Given the description of an element on the screen output the (x, y) to click on. 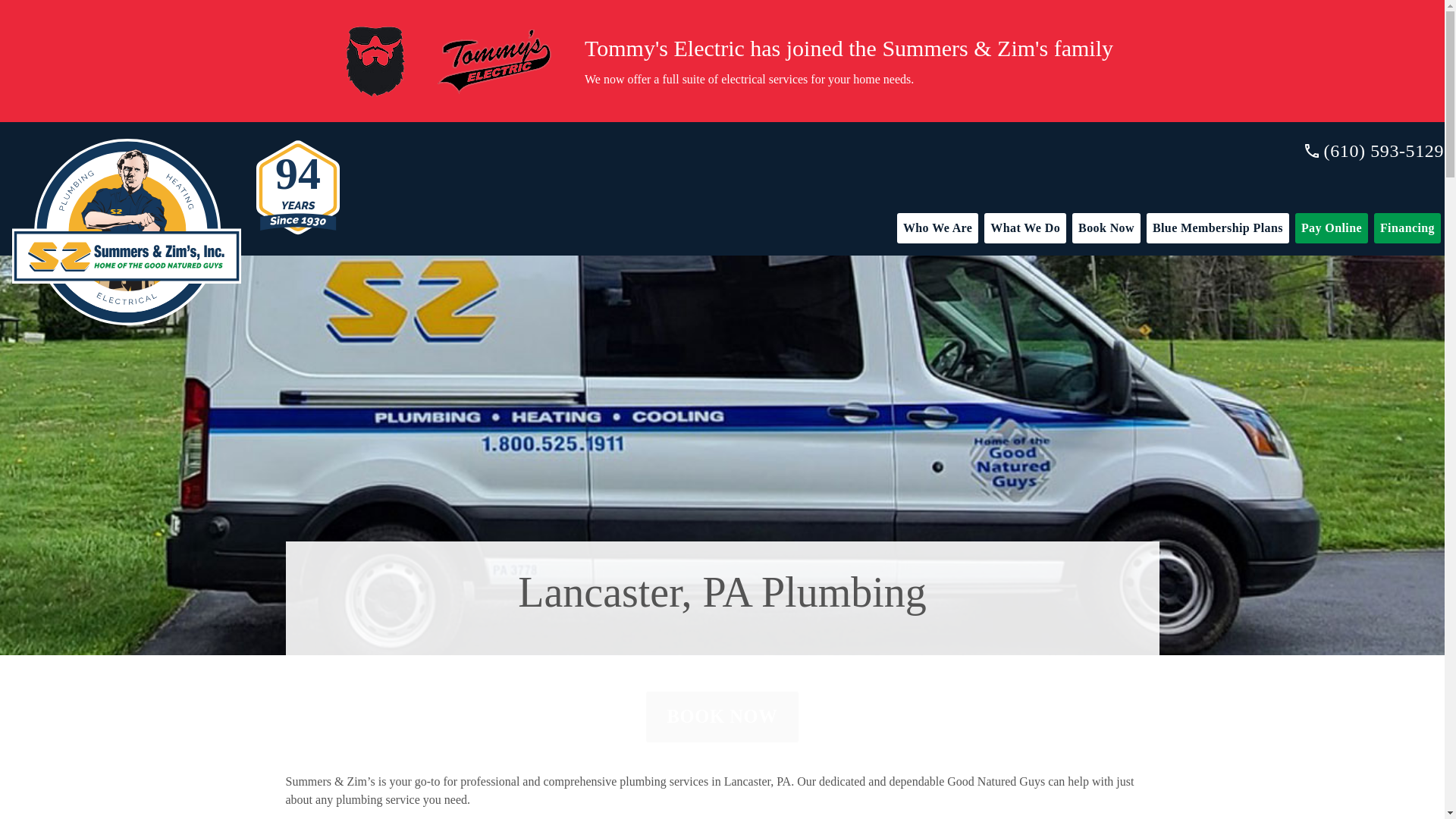
What We Do (1024, 227)
Pay Online (1331, 227)
Who We Are (937, 227)
Financing (1407, 227)
BOOK NOW (722, 716)
Book Now (1105, 227)
Blue Membership Plans (1217, 227)
